Given the description of an element on the screen output the (x, y) to click on. 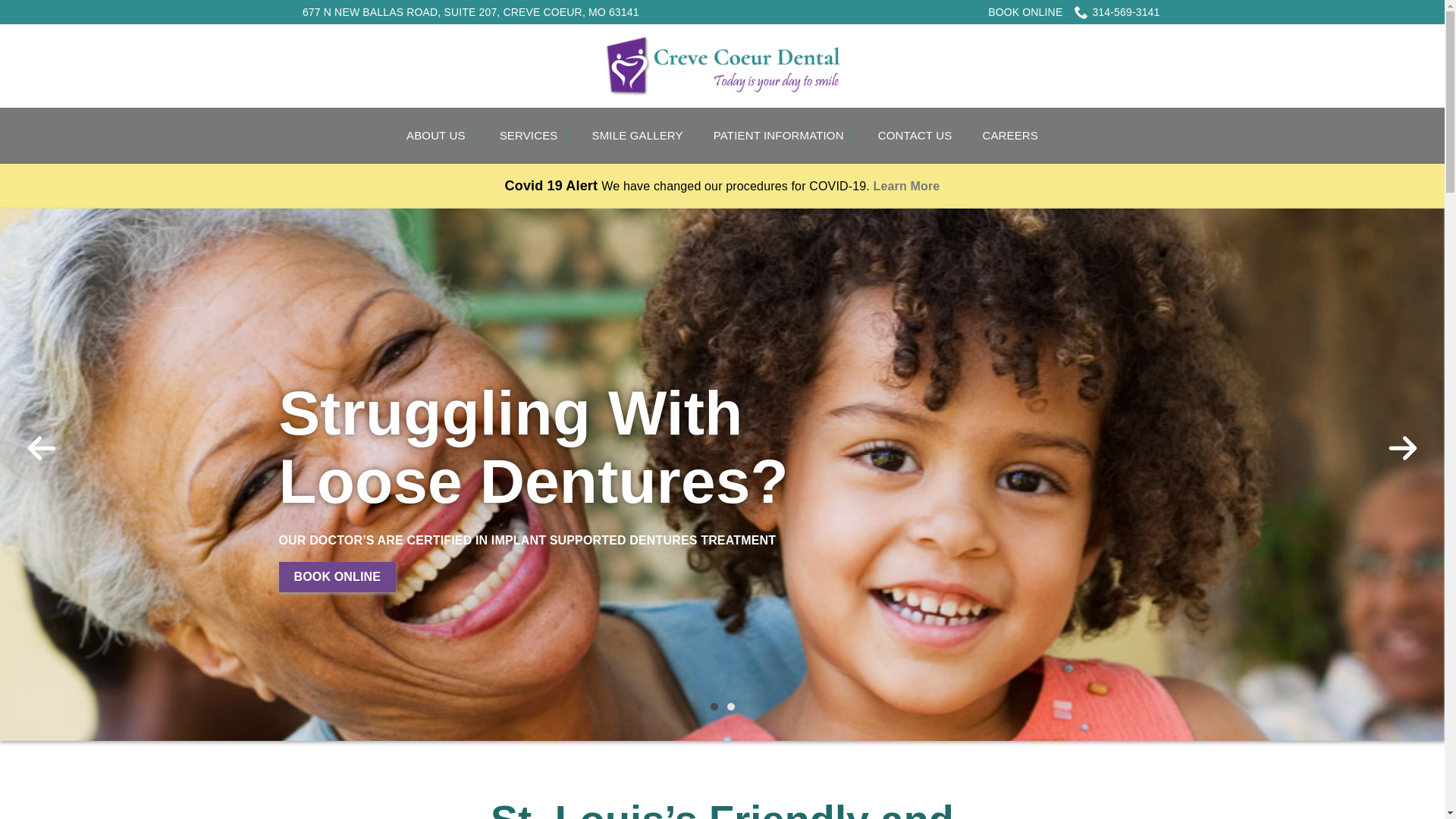
314-569-3141 (1116, 12)
BOOK ONLINE (1025, 11)
677 N NEW BALLAS ROAD, SUITE 207, CREVE COEUR, MO 63141 (470, 12)
ABOUT US (437, 135)
SERVICES (530, 135)
